Given the description of an element on the screen output the (x, y) to click on. 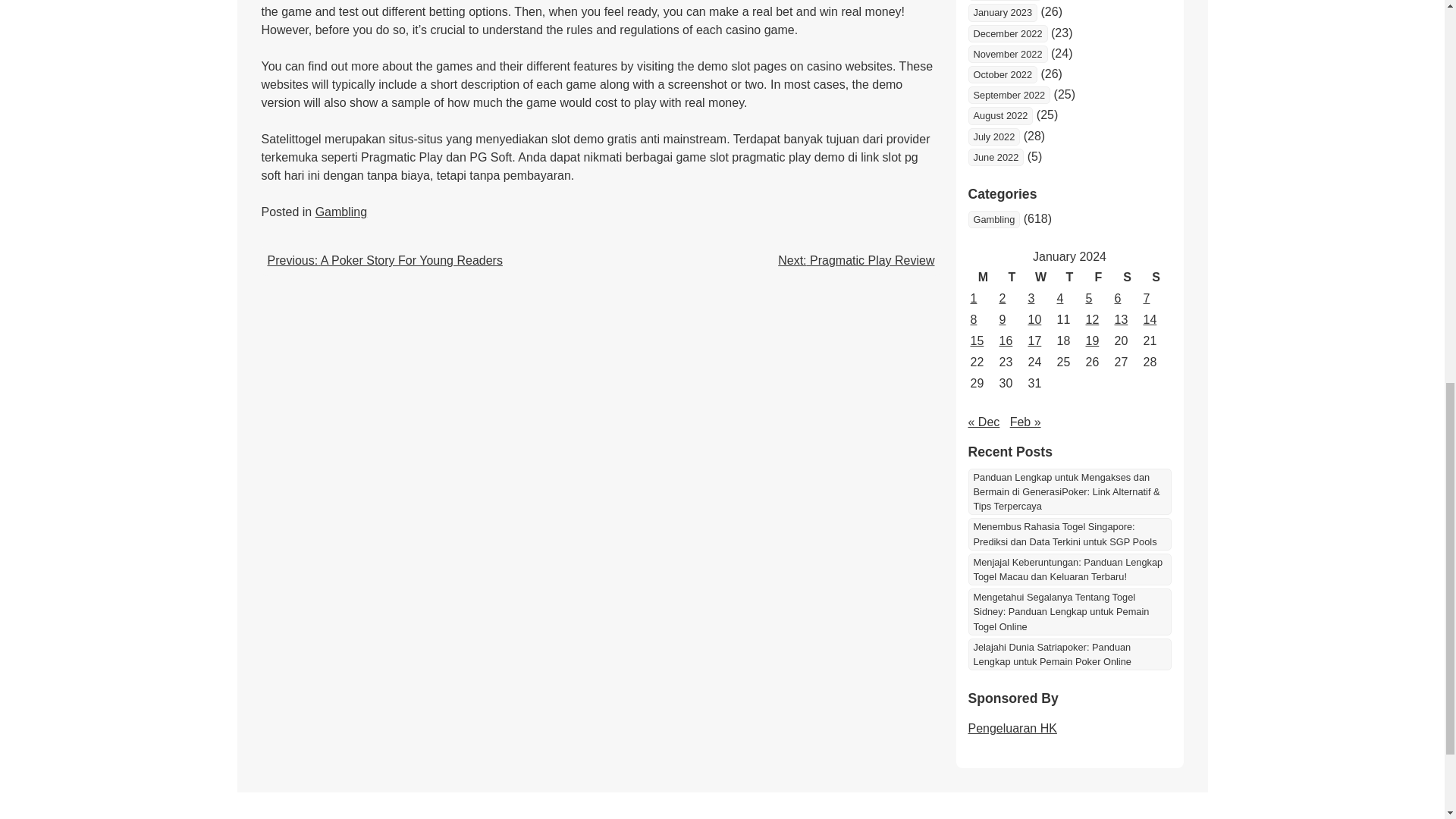
December 2022 (1007, 33)
June 2022 (995, 157)
September 2022 (1008, 95)
Next: Pragmatic Play Review (855, 259)
Sunday (1155, 277)
February 2023 (1004, 0)
Gambling (340, 211)
Gambling (994, 219)
August 2022 (1000, 115)
January 2023 (1002, 12)
